Given the description of an element on the screen output the (x, y) to click on. 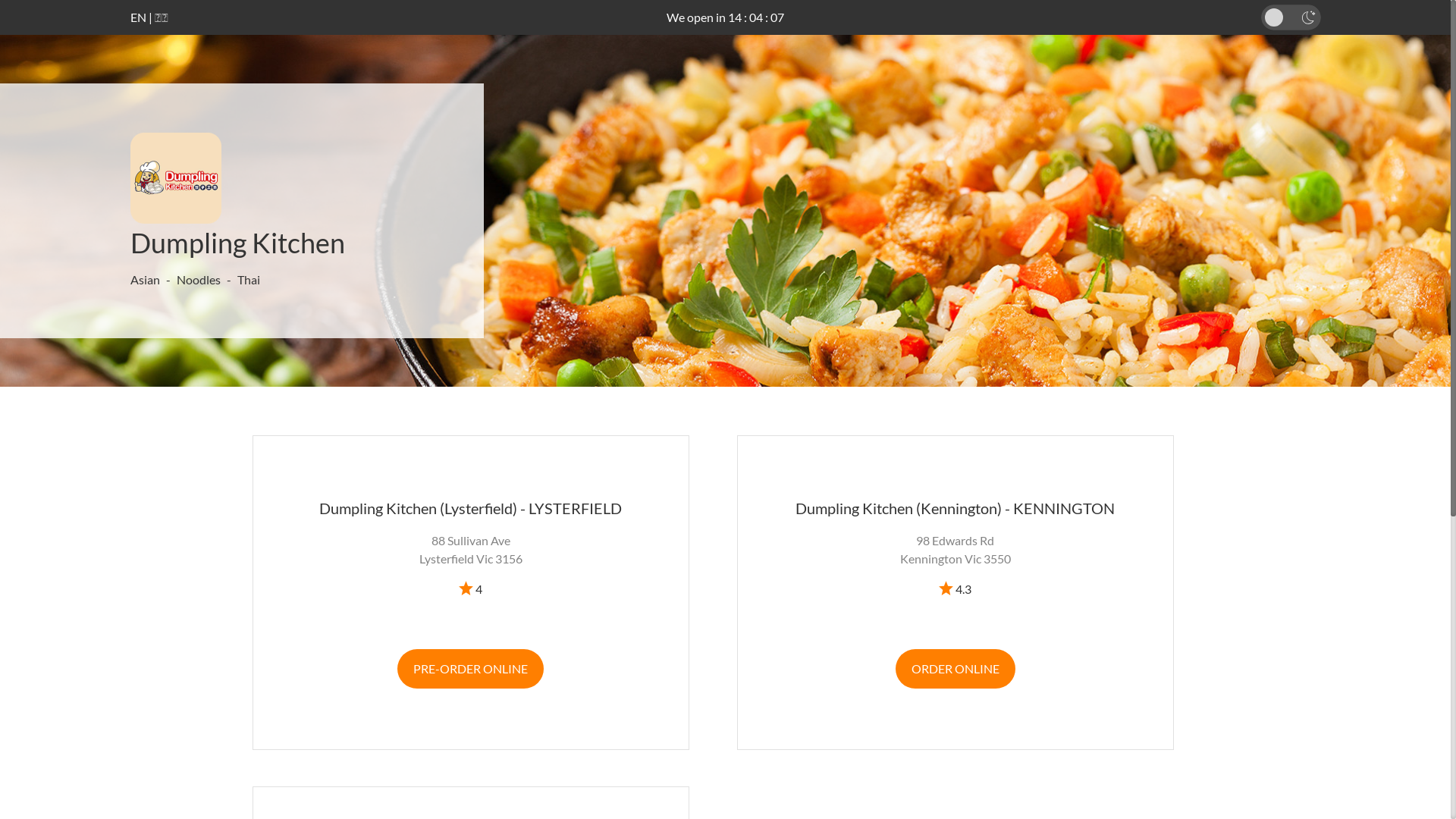
Dumpling Kitchen Element type: text (237, 242)
EN Element type: text (138, 16)
